Given the description of an element on the screen output the (x, y) to click on. 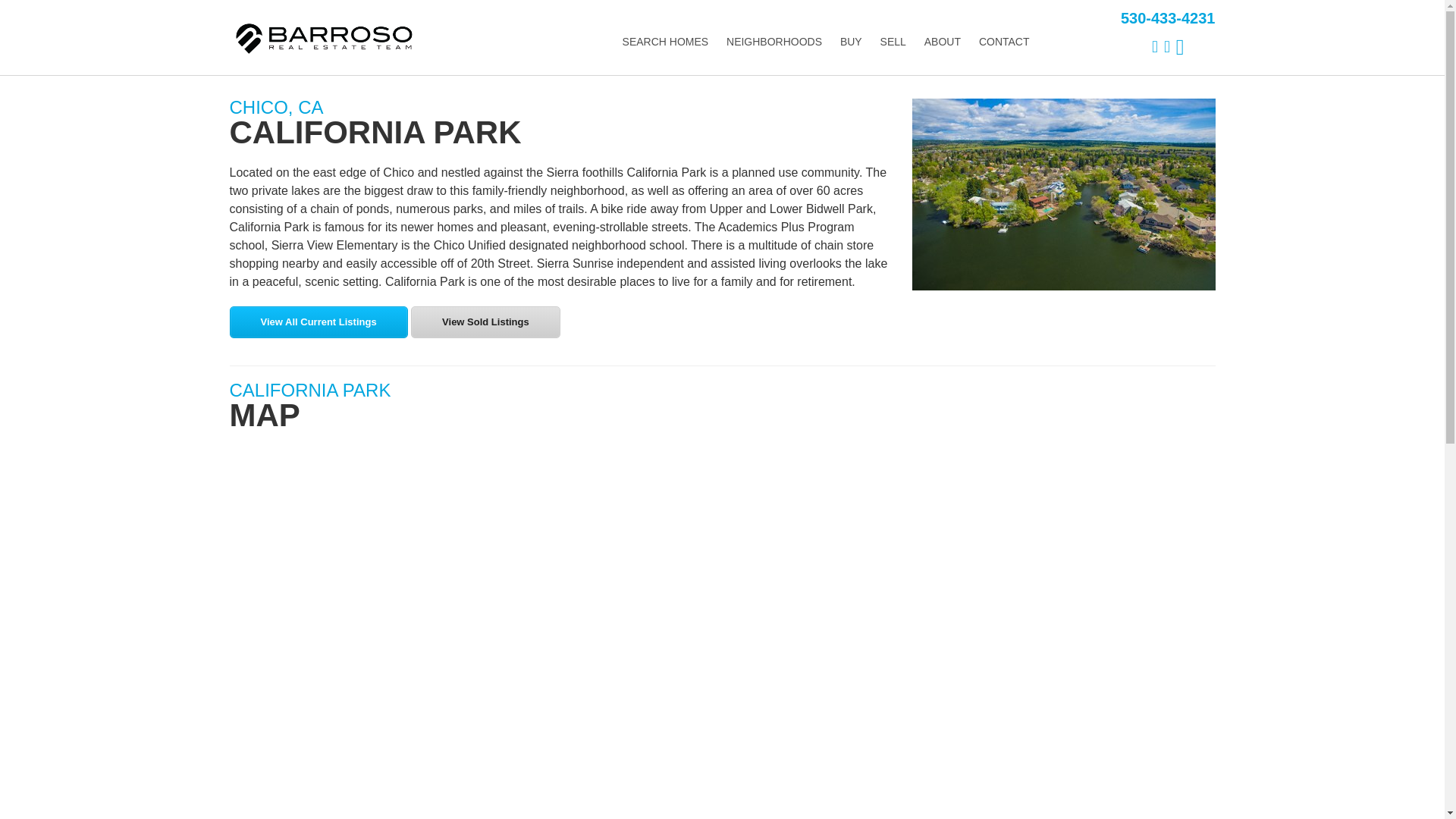
View All Current Listings (317, 322)
BUY (850, 41)
SEARCH HOMES (664, 41)
530-433-4231 (1168, 18)
CONTACT (1003, 41)
NEIGHBORHOODS (774, 41)
SELL (893, 41)
ABOUT (942, 41)
View Sold Listings (485, 322)
